Given the description of an element on the screen output the (x, y) to click on. 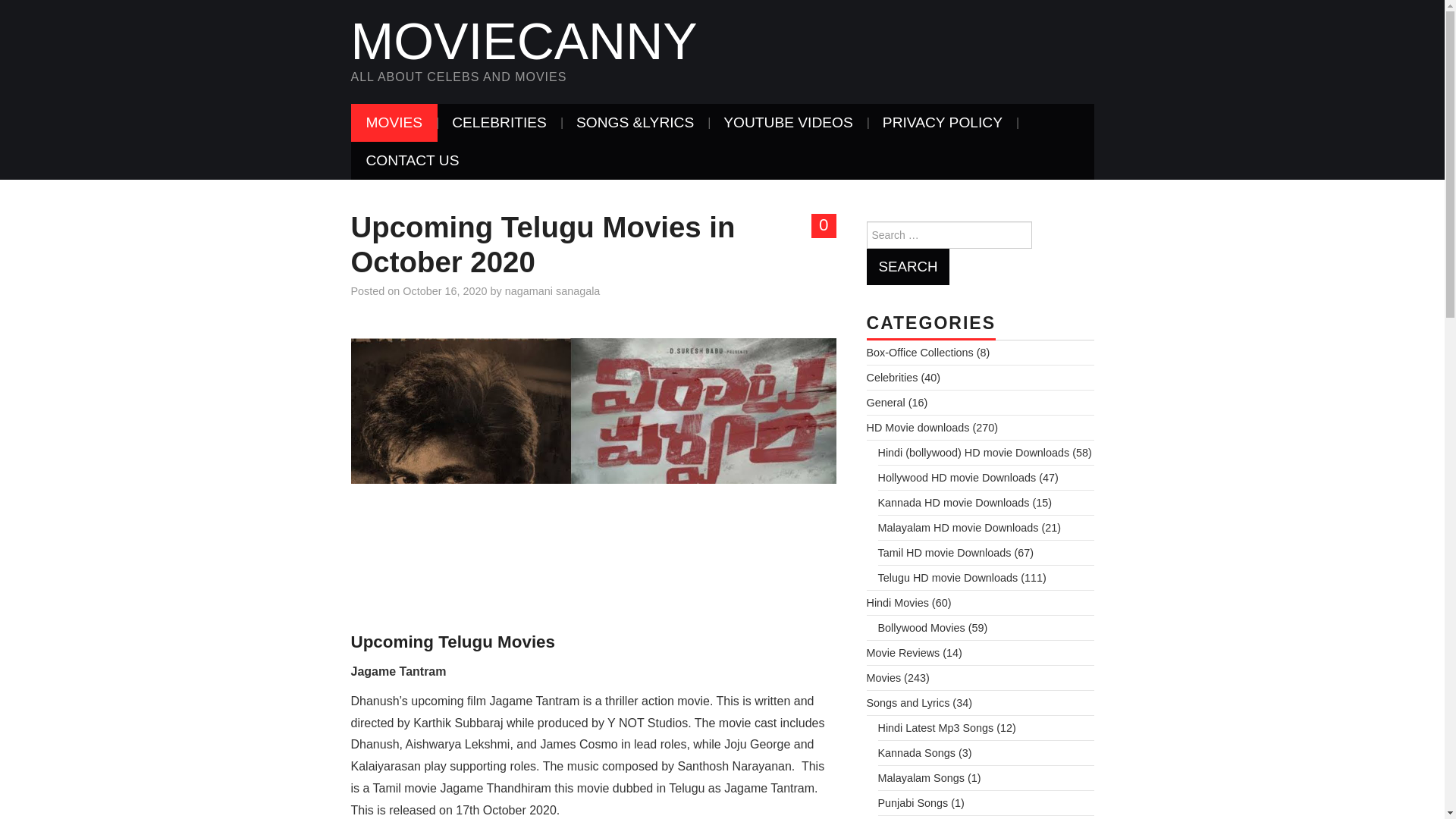
View all posts by nagamani sanagala (552, 291)
YOUTUBE VIDEOS (787, 122)
HD Movie downloads (917, 427)
Songs and Lyrics (907, 702)
Moviecanny (523, 40)
PRIVACY POLICY (942, 122)
Malayalam Songs (920, 777)
12:44 pm (444, 291)
Search (907, 266)
Tamil HD movie Downloads (944, 552)
Search (907, 266)
Telugu HD movie Downloads (947, 577)
Bollywood Movies (921, 627)
MOVIECANNY (523, 40)
CONTACT US (412, 160)
